Given the description of an element on the screen output the (x, y) to click on. 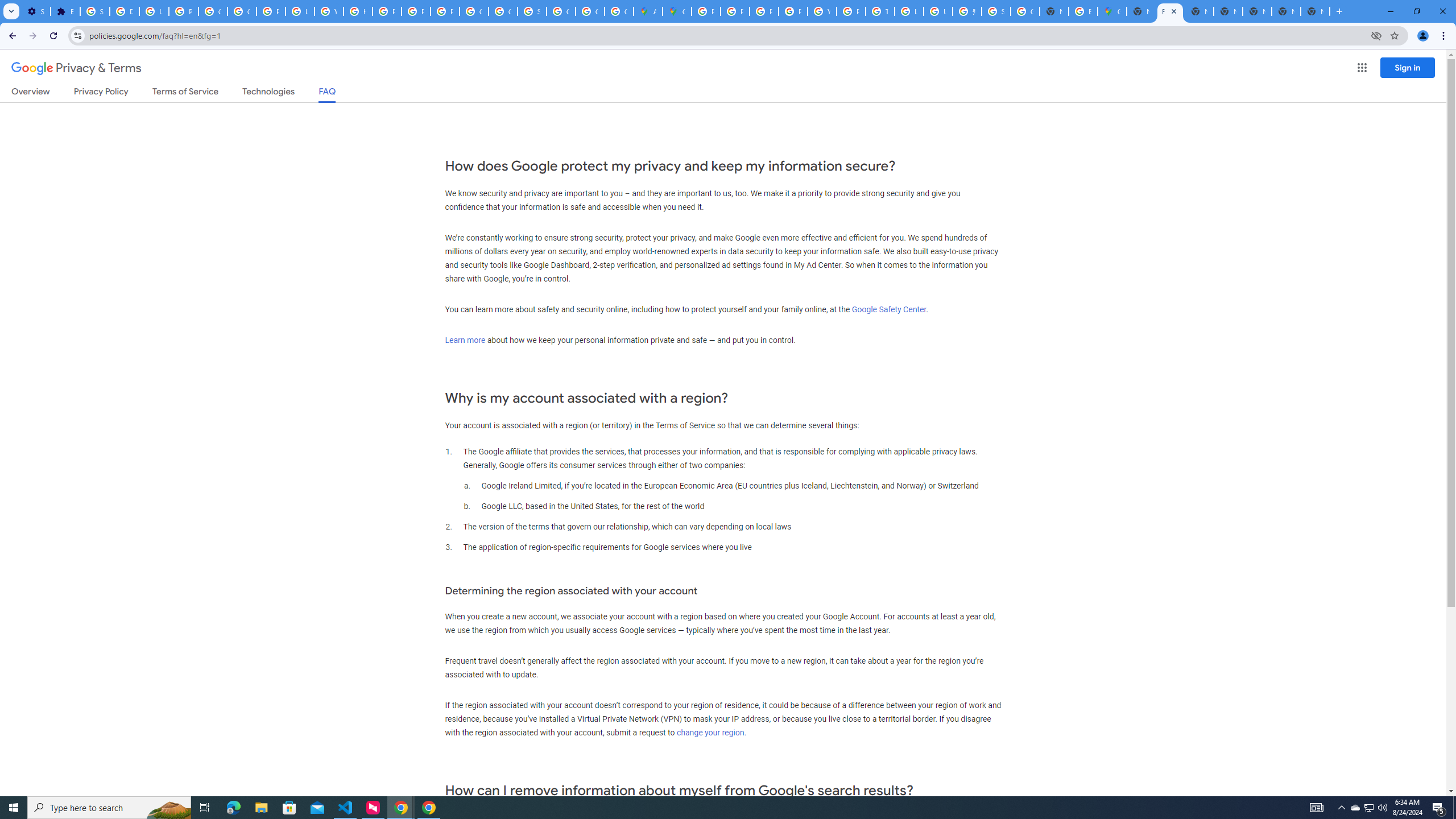
Google Maps (1111, 11)
Google Account Help (212, 11)
YouTube (327, 11)
New Tab (1315, 11)
